Given the description of an element on the screen output the (x, y) to click on. 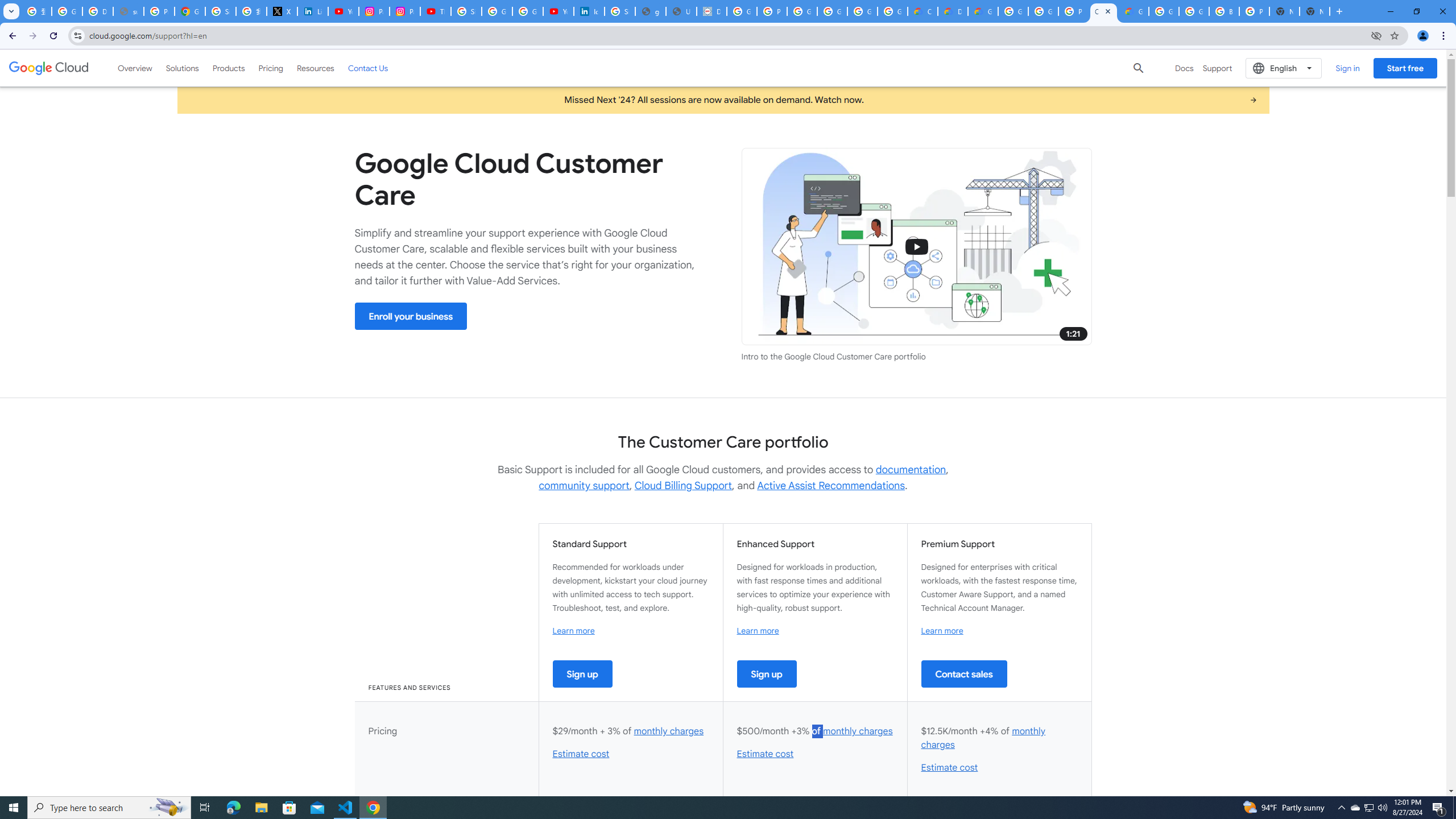
Sign in - Google Accounts (220, 11)
Google Workspace - Specific Terms (892, 11)
Pricing (270, 67)
documentation (910, 469)
Sign in - Google Accounts (465, 11)
